Given the description of an element on the screen output the (x, y) to click on. 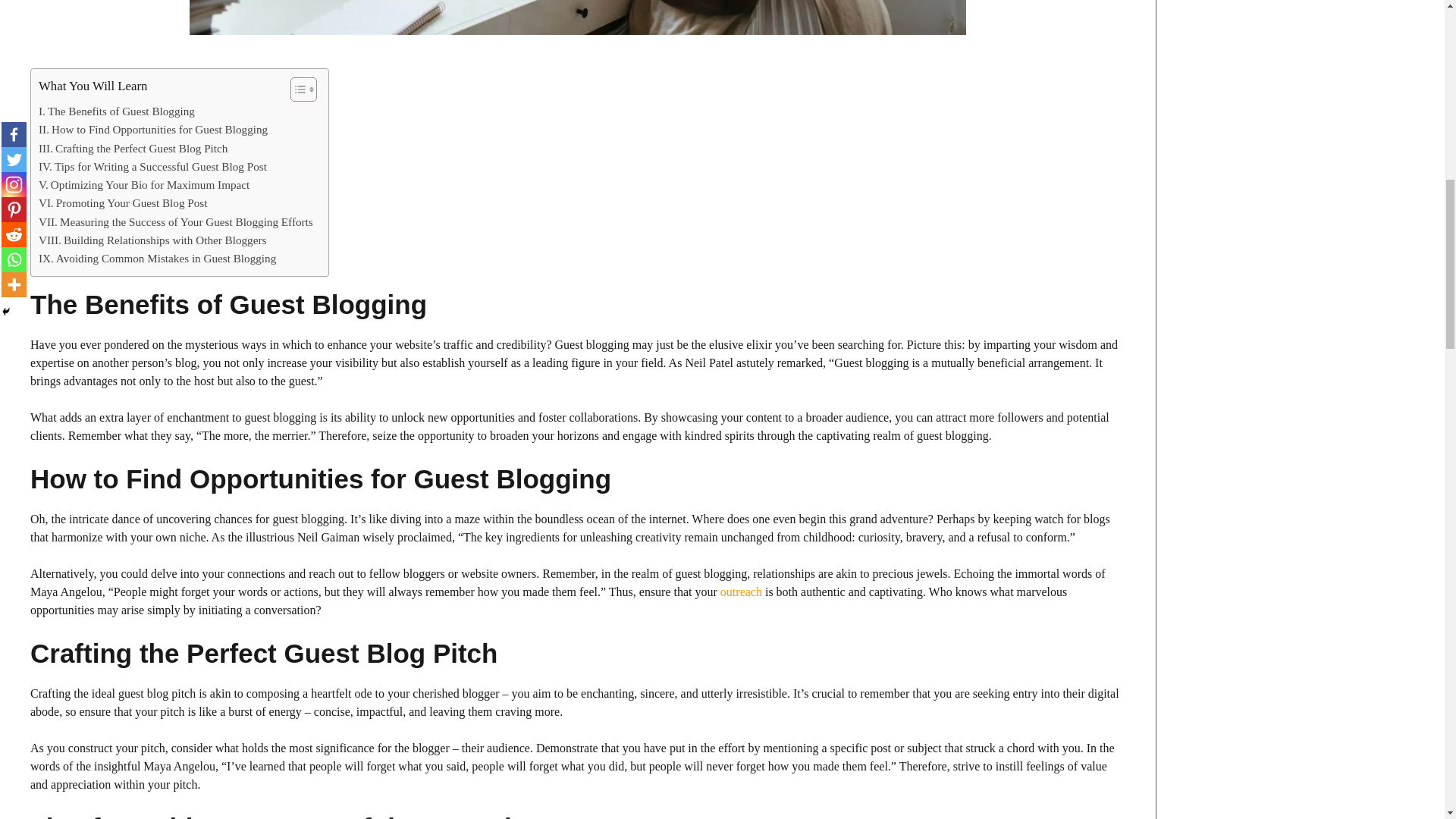
Tips for Writing a Successful Guest Blog Post (152, 167)
Crafting the Perfect Guest Blog Pitch (133, 148)
outreach (740, 591)
Optimizing Your Bio for Maximum Impact (143, 185)
The Benefits of Guest Blogging (117, 111)
Promoting Your Guest Blog Post (122, 203)
The Benefits of Guest Blogging (117, 111)
Optimizing Your Bio for Maximum Impact (143, 185)
How to Find Opportunities for Guest Blogging (153, 129)
Avoiding Common Mistakes in Guest Blogging (157, 258)
Building Relationships with Other Bloggers (152, 239)
Measuring the Success of Your Guest Blogging Efforts (176, 221)
Measuring the Success of Your Guest Blogging Efforts (176, 221)
Promoting Your Guest Blog Post (122, 203)
Crafting the Perfect Guest Blog Pitch (133, 148)
